Given the description of an element on the screen output the (x, y) to click on. 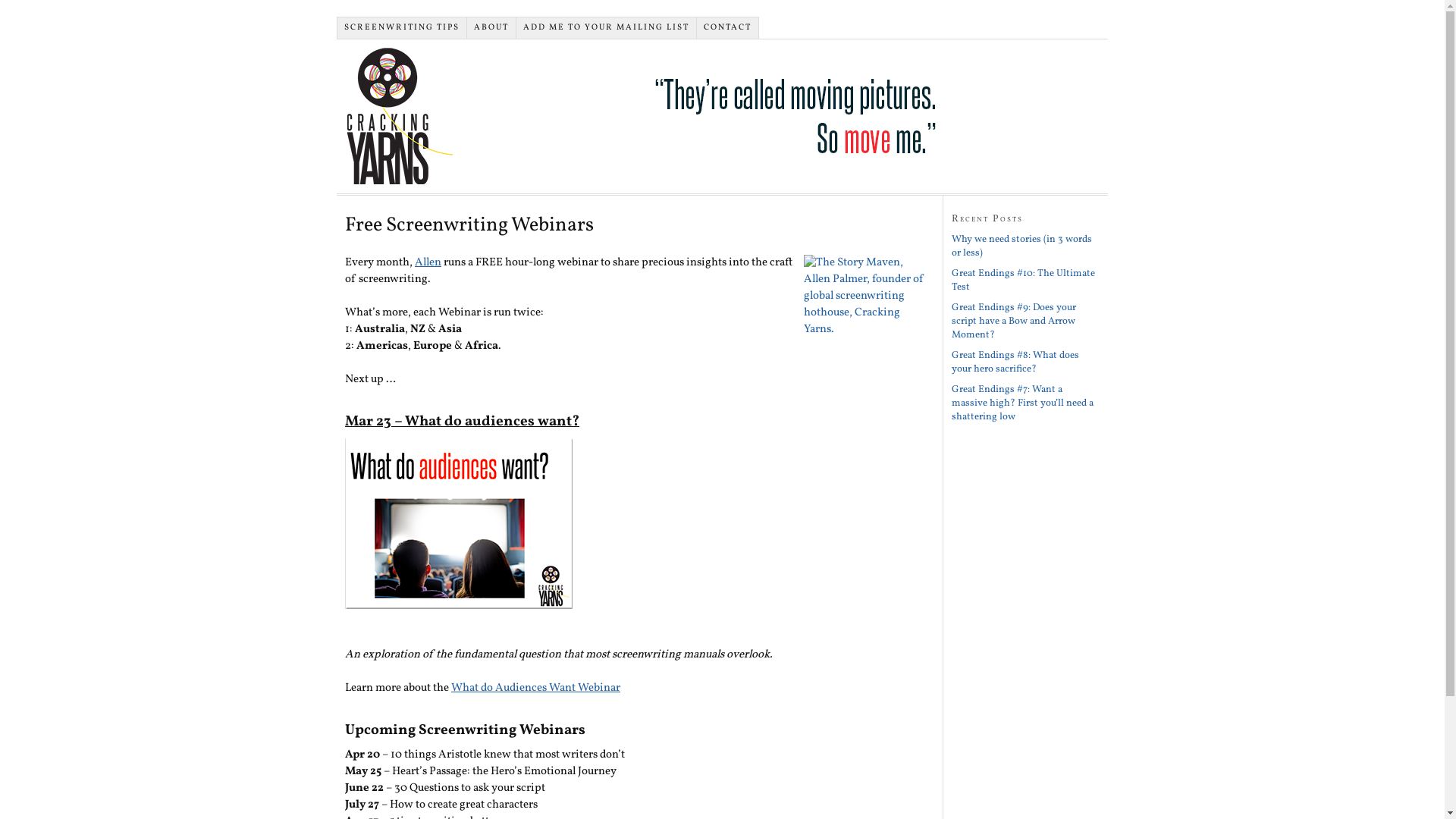
SCREENWRITING TIPS Element type: text (402, 27)
Allen Element type: text (427, 262)
Great Endings #8: What does your hero sacrifice? Element type: text (1015, 362)
Why we need stories (in 3 words or less) Element type: text (1021, 246)
ABOUT Element type: text (491, 27)
What do Audiences Want Webinar Element type: text (535, 688)
ADD ME TO YOUR MAILING LIST Element type: text (606, 27)
Great Endings #10: The Ultimate Test Element type: text (1023, 280)
CONTACT Element type: text (727, 27)
